Given the description of an element on the screen output the (x, y) to click on. 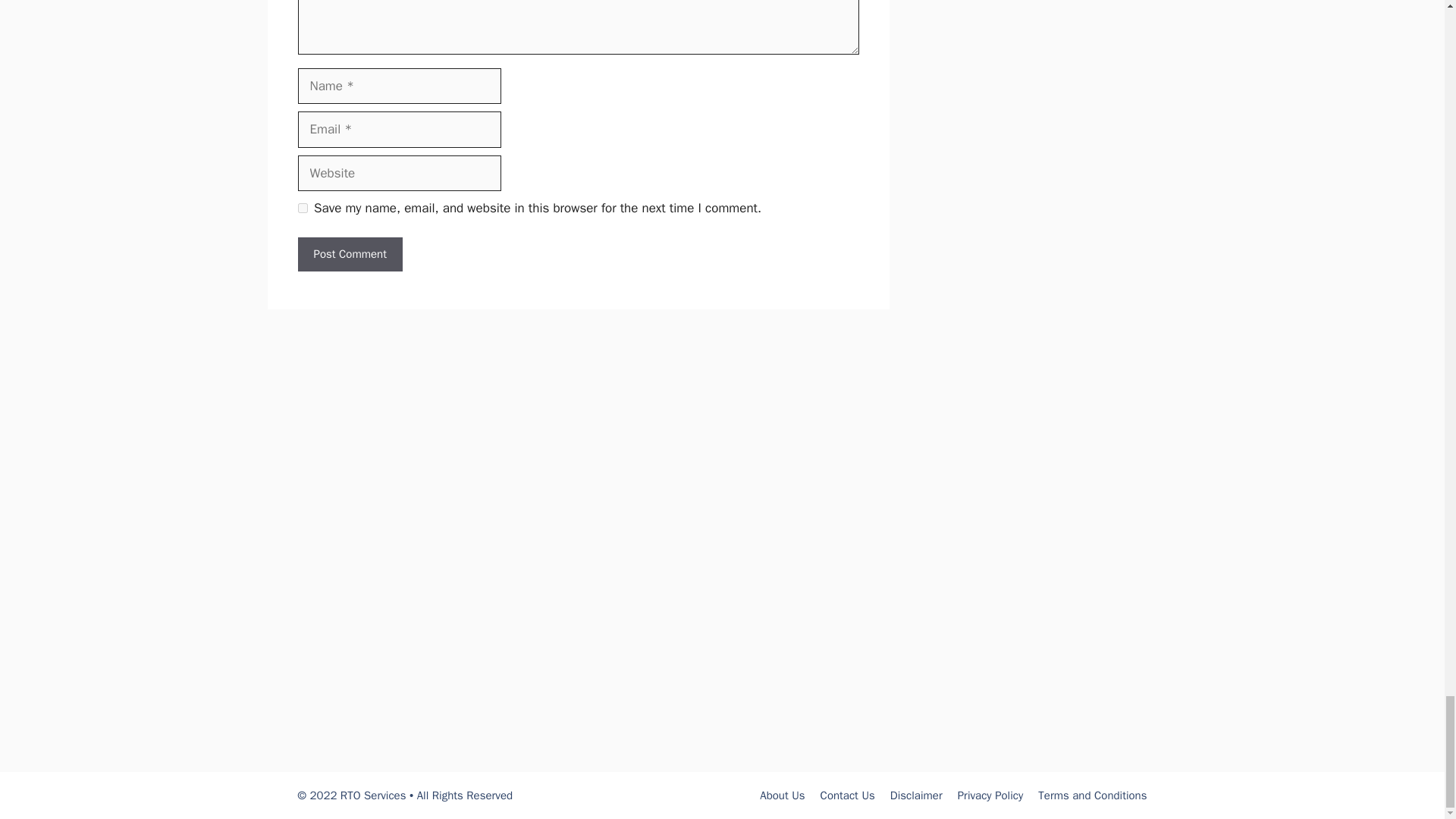
yes (302, 207)
Post Comment (349, 254)
Privacy Policy (990, 794)
Disclaimer (915, 794)
Contact Us (848, 794)
About Us (782, 794)
Terms and Conditions (1092, 794)
Post Comment (349, 254)
